Given the description of an element on the screen output the (x, y) to click on. 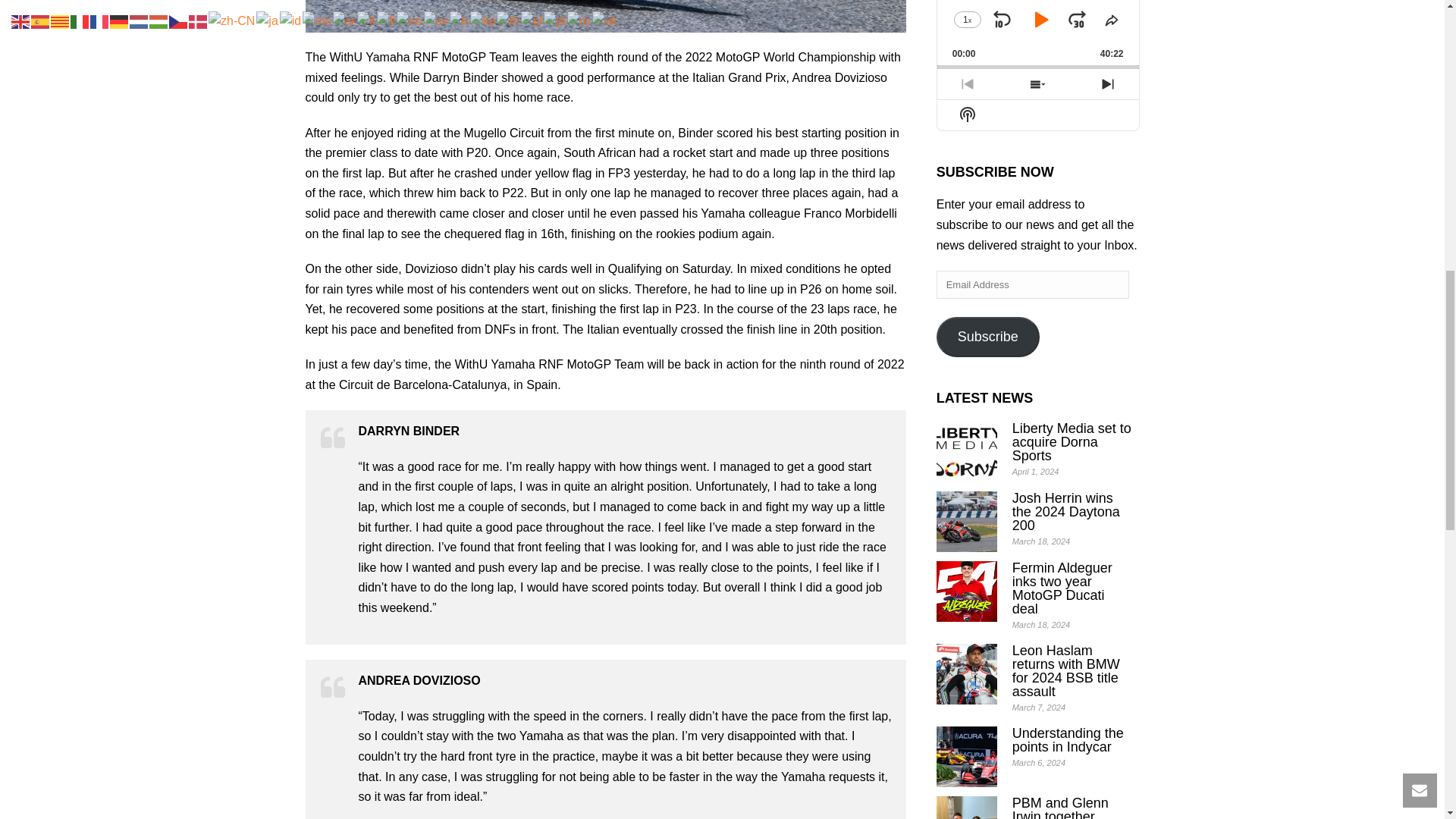
0 (1037, 66)
